Given the description of an element on the screen output the (x, y) to click on. 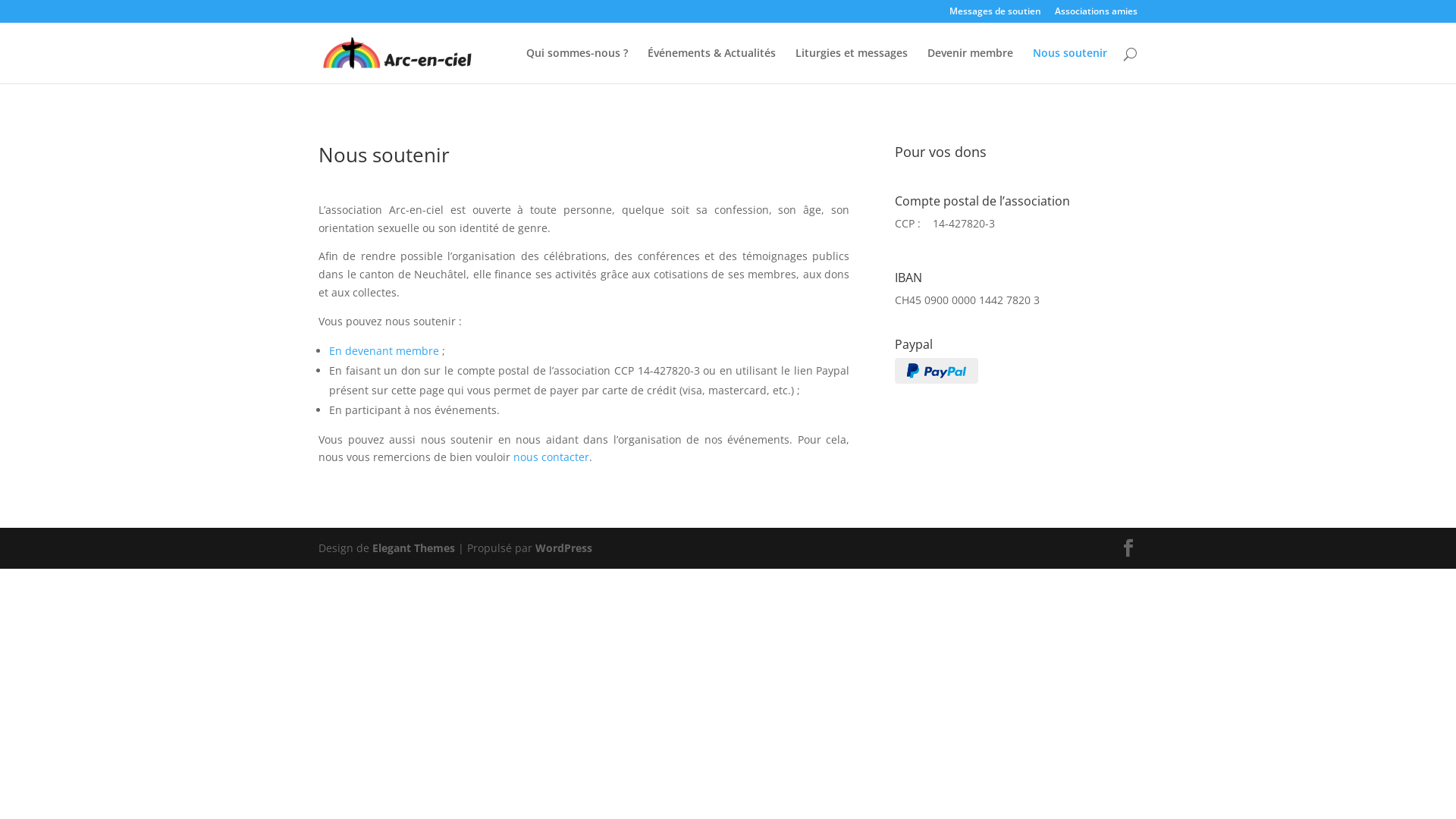
Liturgies et messages Element type: text (851, 65)
Messages de soutien Element type: text (995, 14)
En devenant membre Element type: text (384, 350)
Qui sommes-nous ? Element type: text (576, 65)
nous contacter Element type: text (551, 456)
Nous soutenir Element type: text (1069, 65)
Devenir membre Element type: text (970, 65)
Associations amies Element type: text (1095, 14)
WordPress Element type: text (563, 547)
Elegant Themes Element type: text (413, 547)
